Given the description of an element on the screen output the (x, y) to click on. 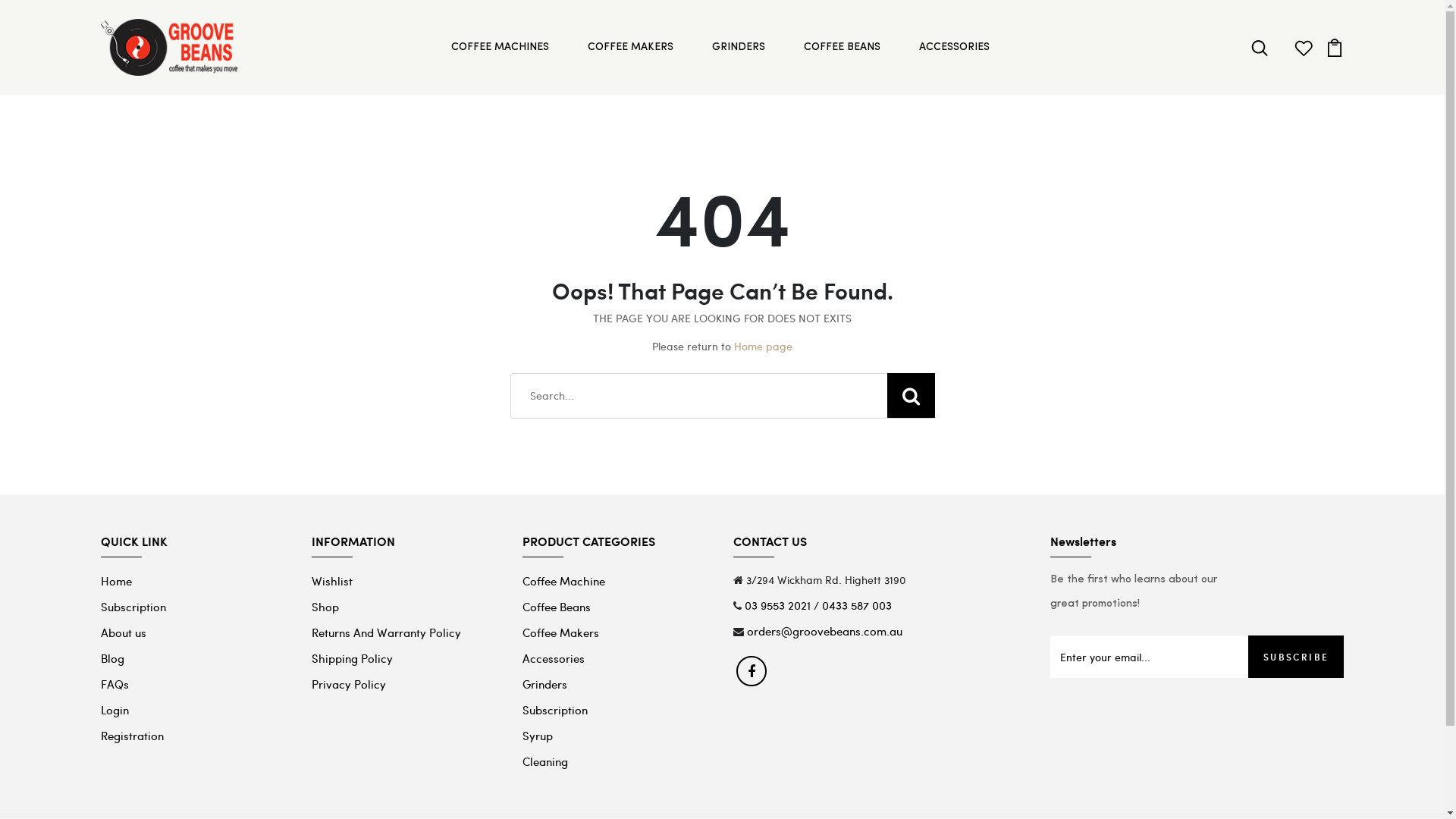
Cleaning Element type: text (544, 760)
Login Element type: text (114, 709)
Home Element type: text (115, 580)
Subscription Element type: text (132, 606)
About us Element type: text (122, 632)
Accessories Element type: text (553, 657)
Blog Element type: text (111, 657)
Home page Element type: text (763, 345)
GRINDERS Element type: text (740, 47)
COFFEE MACHINES Element type: text (501, 47)
Coffee Machine Element type: text (563, 580)
SUBSCRIBE Element type: text (1296, 656)
image/svg+xml Element type: text (1259, 45)
0433 587 003 Element type: text (856, 604)
03 9553 2021 Element type: text (777, 604)
image/svg+xml Element type: text (1334, 45)
Shop Element type: text (324, 606)
ACCESSORIES Element type: text (956, 47)
Registration Element type: text (131, 735)
Returns And Warranty Policy Element type: text (386, 632)
COFFEE BEANS Element type: text (844, 47)
Wishlist Element type: text (331, 580)
Shipping Policy Element type: text (351, 657)
Grinders Element type: text (544, 683)
orders@groovebeans.com.au Element type: text (824, 630)
Coffee Beans Element type: text (556, 606)
Privacy Policy Element type: text (348, 683)
Syrup Element type: text (537, 735)
COFFEE MAKERS Element type: text (631, 47)
FAQs Element type: text (114, 683)
Coffee Makers Element type: text (560, 632)
Subscription Element type: text (554, 709)
image/svg+xml Element type: text (1303, 45)
